Given the description of an element on the screen output the (x, y) to click on. 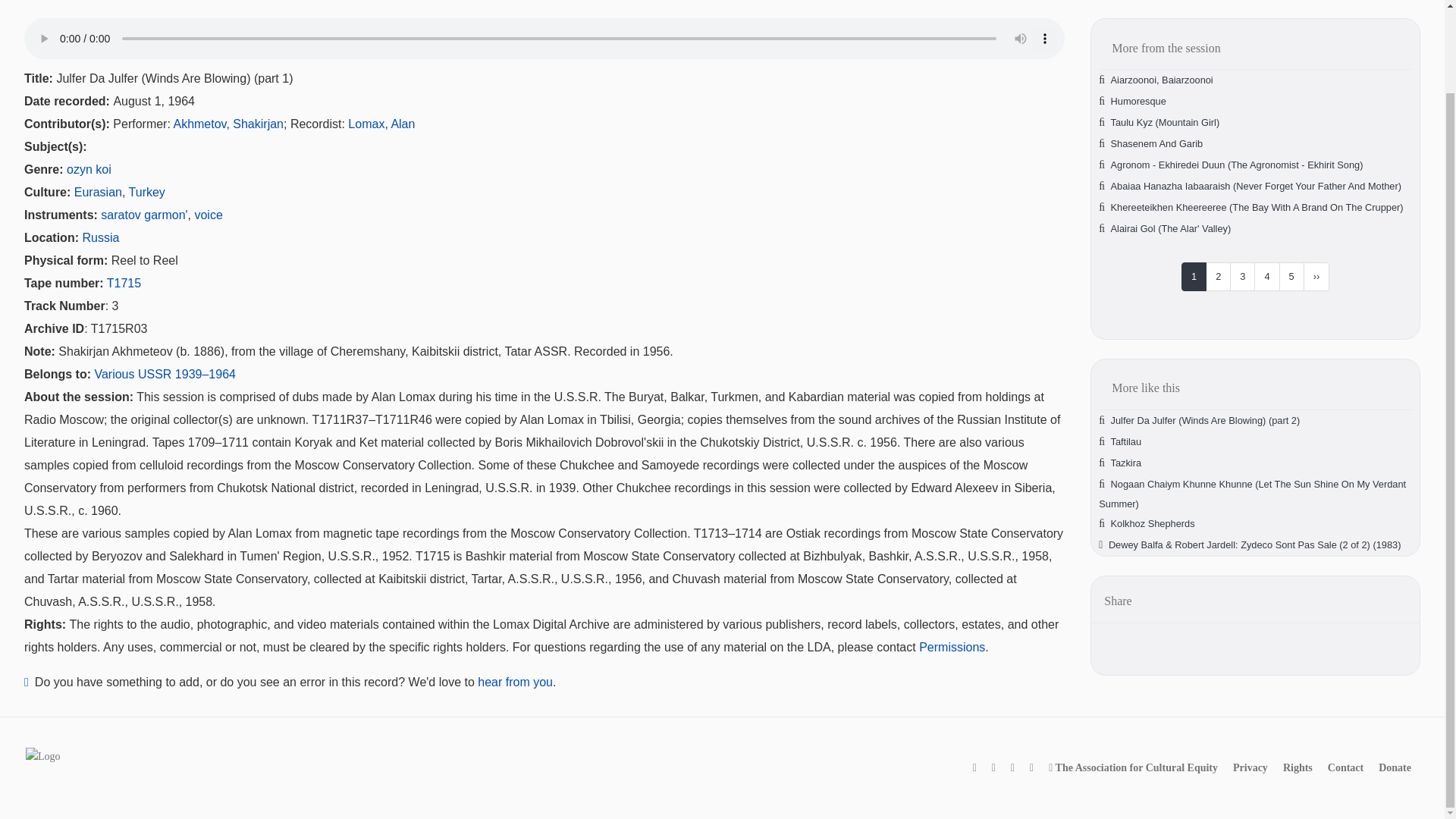
Humoresque (1138, 101)
voice (207, 214)
Lomax, Alan (380, 123)
Akhmetov, Shakirjan (228, 123)
Eurasian (98, 192)
Shasenem And Garib (1157, 143)
Permissions (951, 646)
saratov garmon' (143, 214)
Turkey (147, 192)
Aiarzoonoi, Baiarzoonoi (1161, 79)
T1715 (123, 282)
Russia (100, 237)
hear from you (515, 681)
ozyn koi (89, 169)
